Given the description of an element on the screen output the (x, y) to click on. 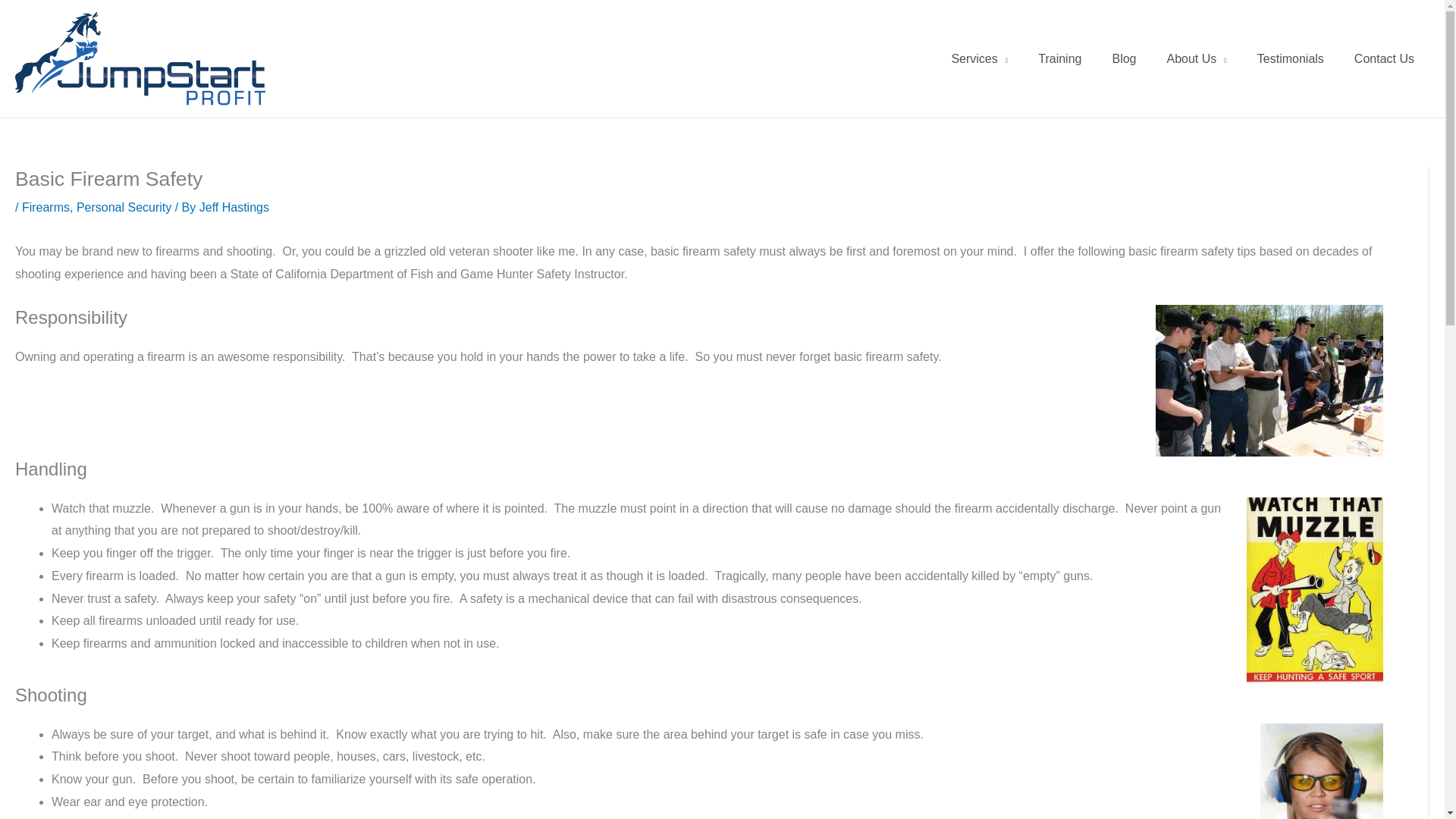
Training (1059, 59)
Testimonials (1290, 59)
About Us (1196, 59)
Personal Security (124, 206)
Contact Us (1384, 59)
View all posts by Jeff Hastings (234, 206)
Firearms (45, 206)
Services (979, 59)
Jeff Hastings (234, 206)
Blog (1123, 59)
